Given the description of an element on the screen output the (x, y) to click on. 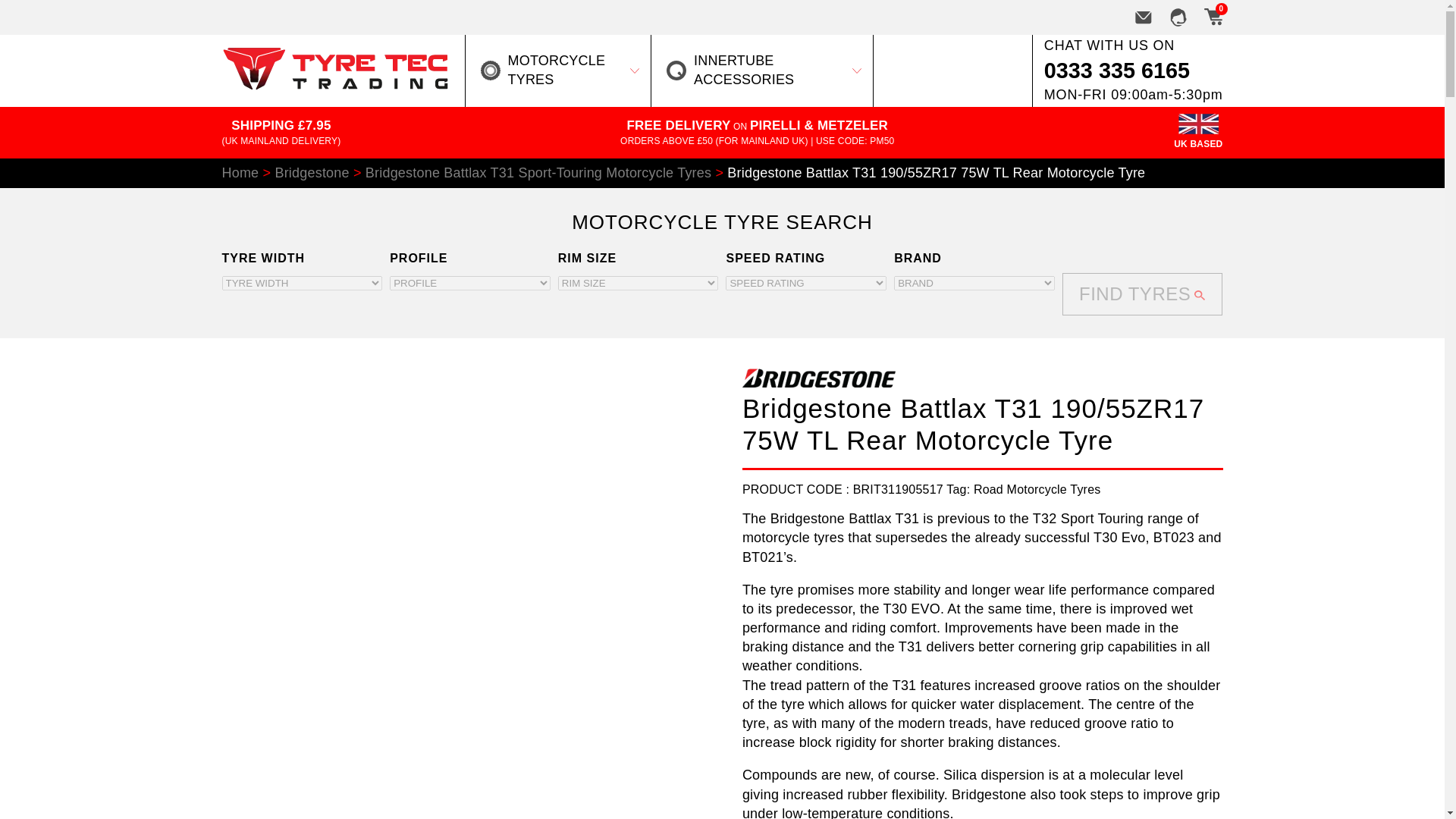
MOTORCYCLE TYRES (557, 70)
0 (1212, 17)
TyreTec Trading (334, 85)
